Given the description of an element on the screen output the (x, y) to click on. 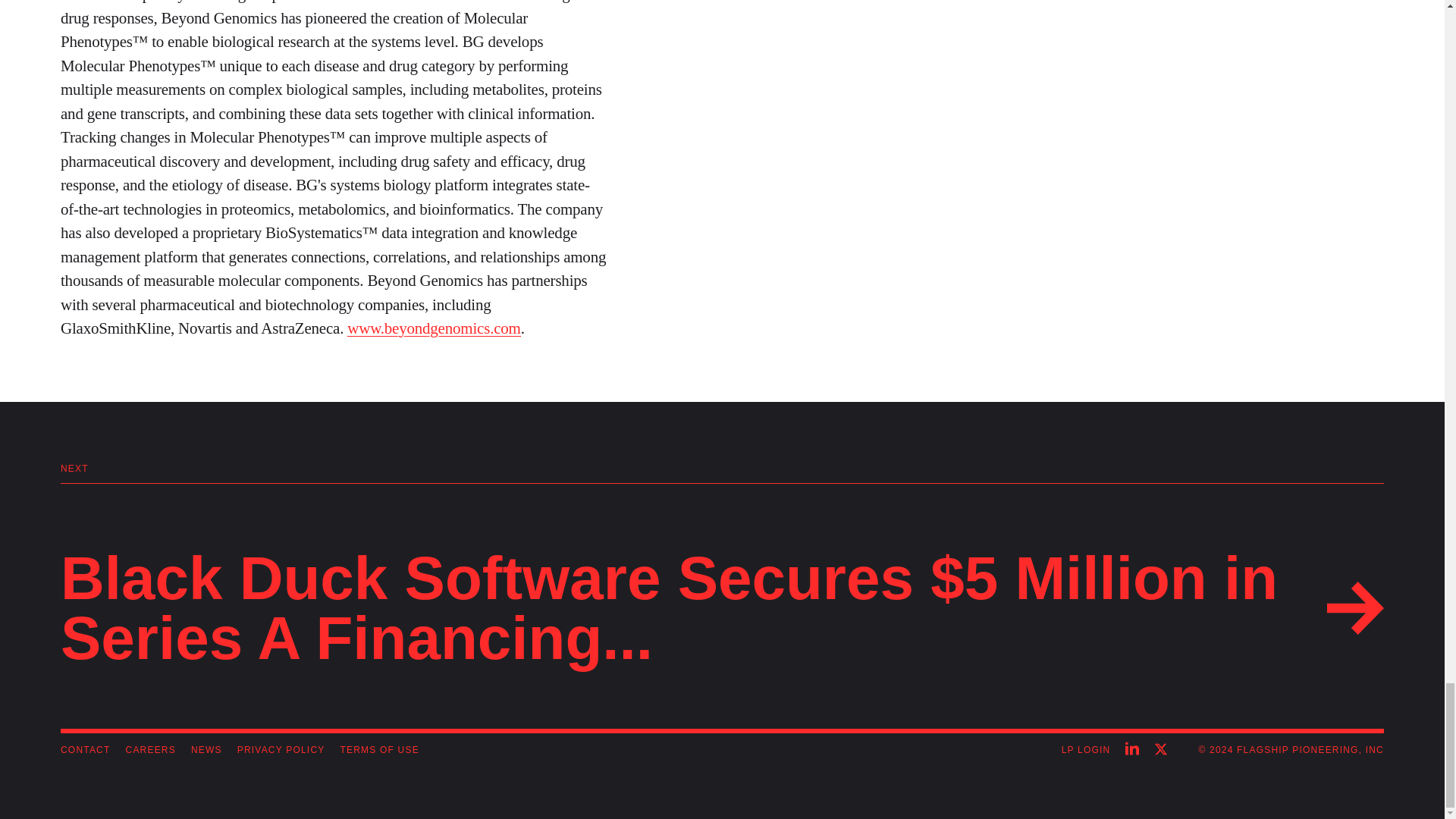
PRIVACY POLICY (280, 749)
www.beyondgenomics.com (433, 328)
CAREERS (150, 749)
NEWS (206, 749)
LP LOGIN (1085, 750)
TERMS OF USE (379, 749)
Follow on linkedin (1136, 750)
Follow on twitter (1157, 750)
CONTACT (85, 749)
